Given the description of an element on the screen output the (x, y) to click on. 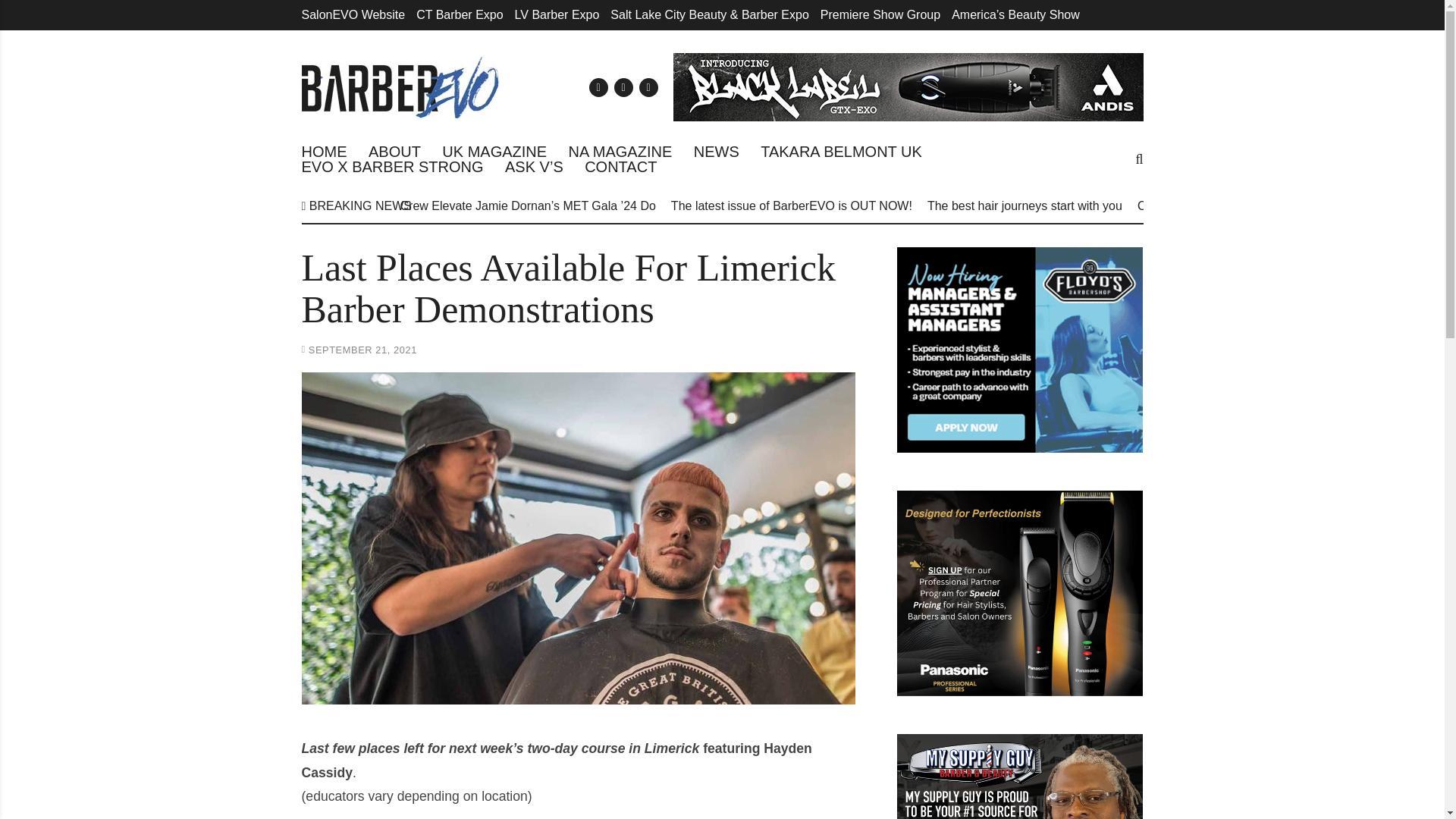
Facebook (623, 86)
Instagram (648, 86)
The latest issue of BarberEVO is OUT NOW! (791, 205)
Email (597, 86)
The best hair journeys start with you (1024, 205)
TAKARA BELMONT UK (840, 151)
ABOUT (394, 151)
CONTACT (620, 166)
HOME (324, 151)
SalonEVO Website (353, 14)
NEWS (716, 151)
UK MAGAZINE (494, 151)
EVO X BARBER STRONG (392, 166)
CT Barber Expo (459, 14)
The best hair journeys start with you (1024, 205)
